Given the description of an element on the screen output the (x, y) to click on. 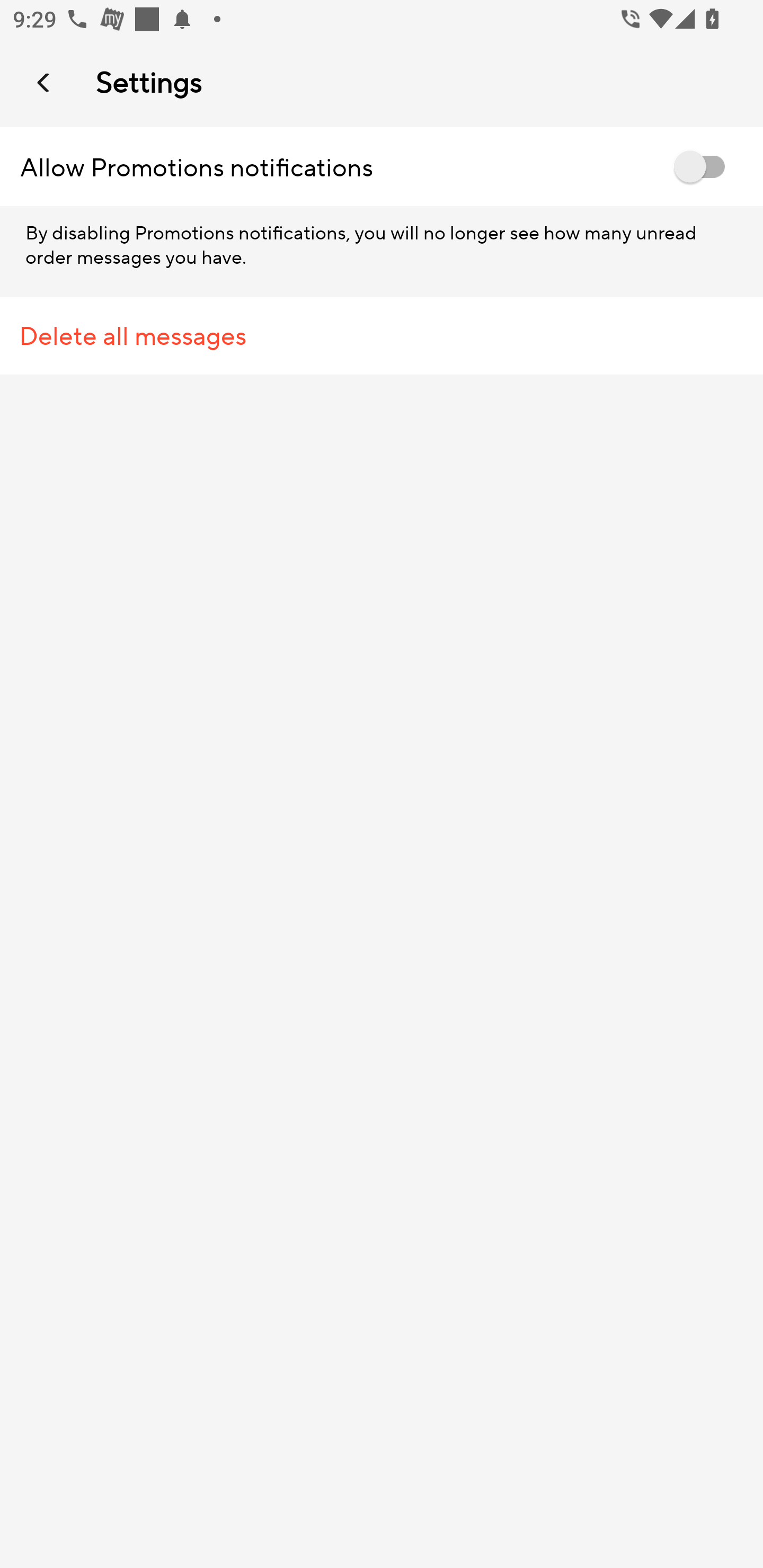
Navigate up (44, 82)
Delete all messages (381, 335)
